Given the description of an element on the screen output the (x, y) to click on. 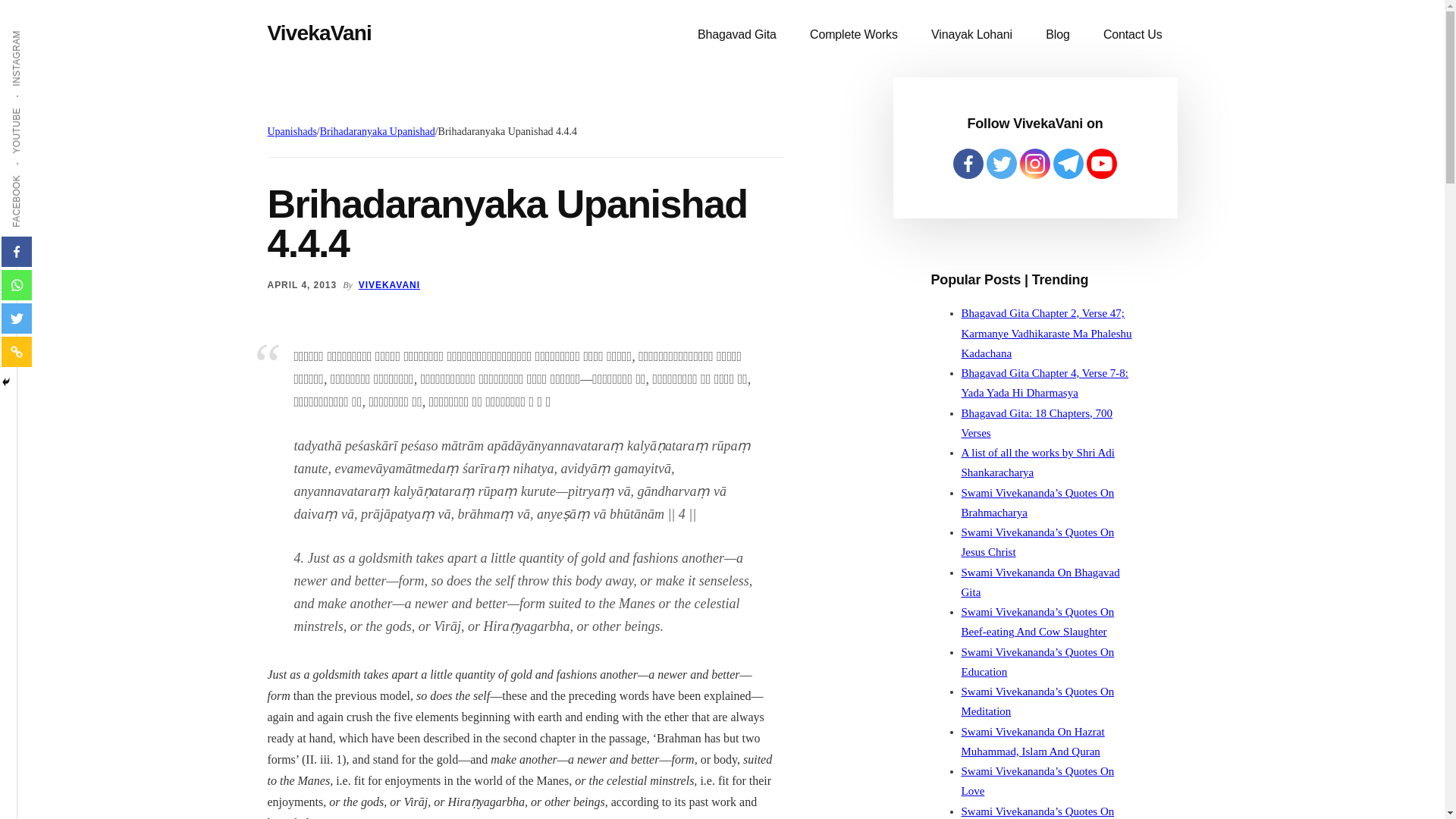
VivekaVani (318, 33)
Copy Link (16, 351)
YOUTUBE (41, 106)
Whatsapp (16, 285)
Facebook (16, 251)
Telegram (1067, 163)
Bhagavad Gita (737, 34)
Complete Works (853, 34)
Vinayak Lohani (971, 34)
Go to the Upanishads Category archives. (290, 131)
Blog (1057, 34)
INSTAGRAM (45, 28)
Facebook (968, 163)
Twitter (1001, 163)
